Given the description of an element on the screen output the (x, y) to click on. 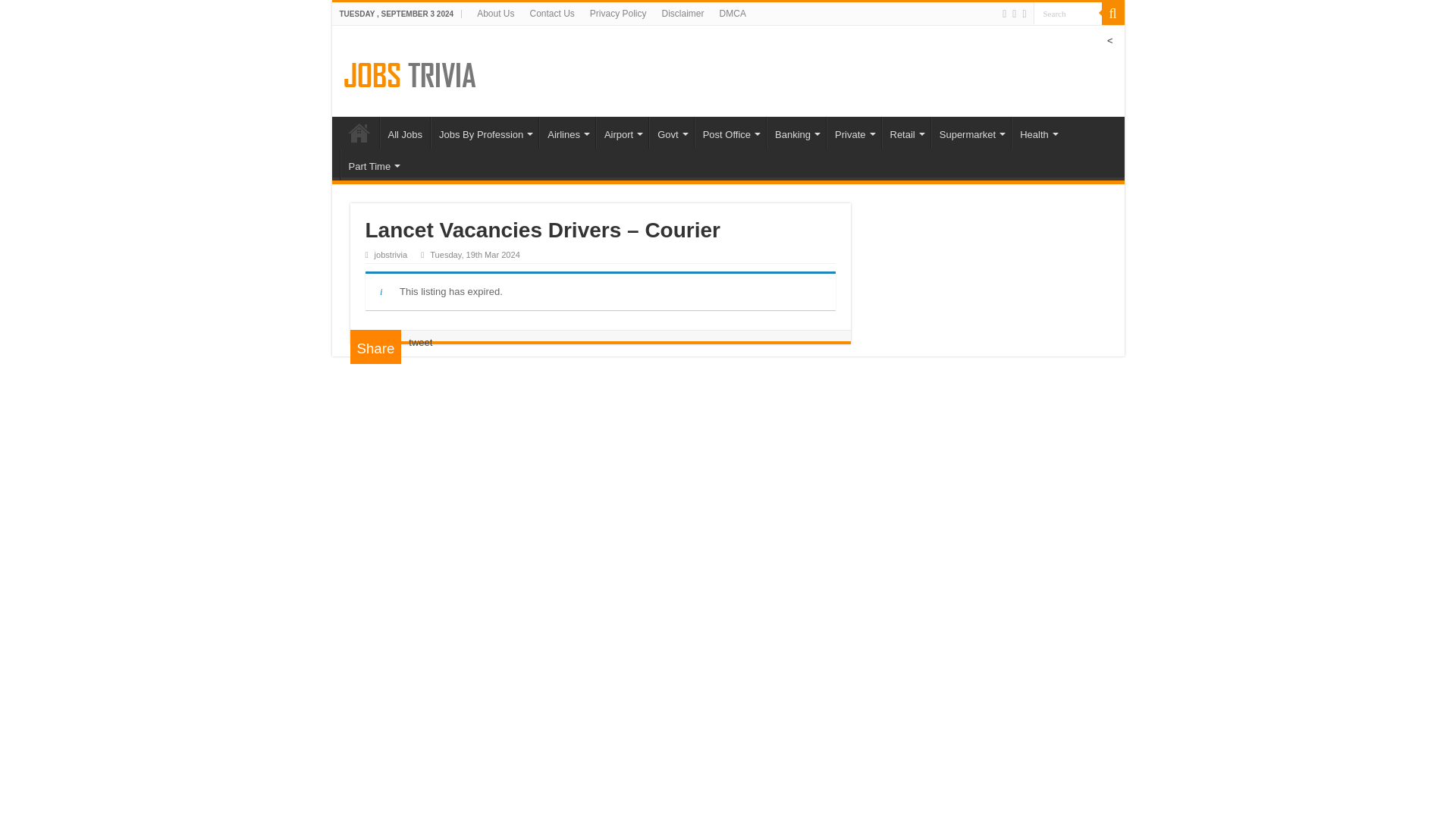
Contact Us (550, 13)
About Us (494, 13)
Disclaimer (682, 13)
Search (1066, 13)
DMCA (732, 13)
Search (1066, 13)
All Jobs (403, 132)
Jobs By Profession (484, 132)
Search (1112, 13)
Airlines (566, 132)
